Given the description of an element on the screen output the (x, y) to click on. 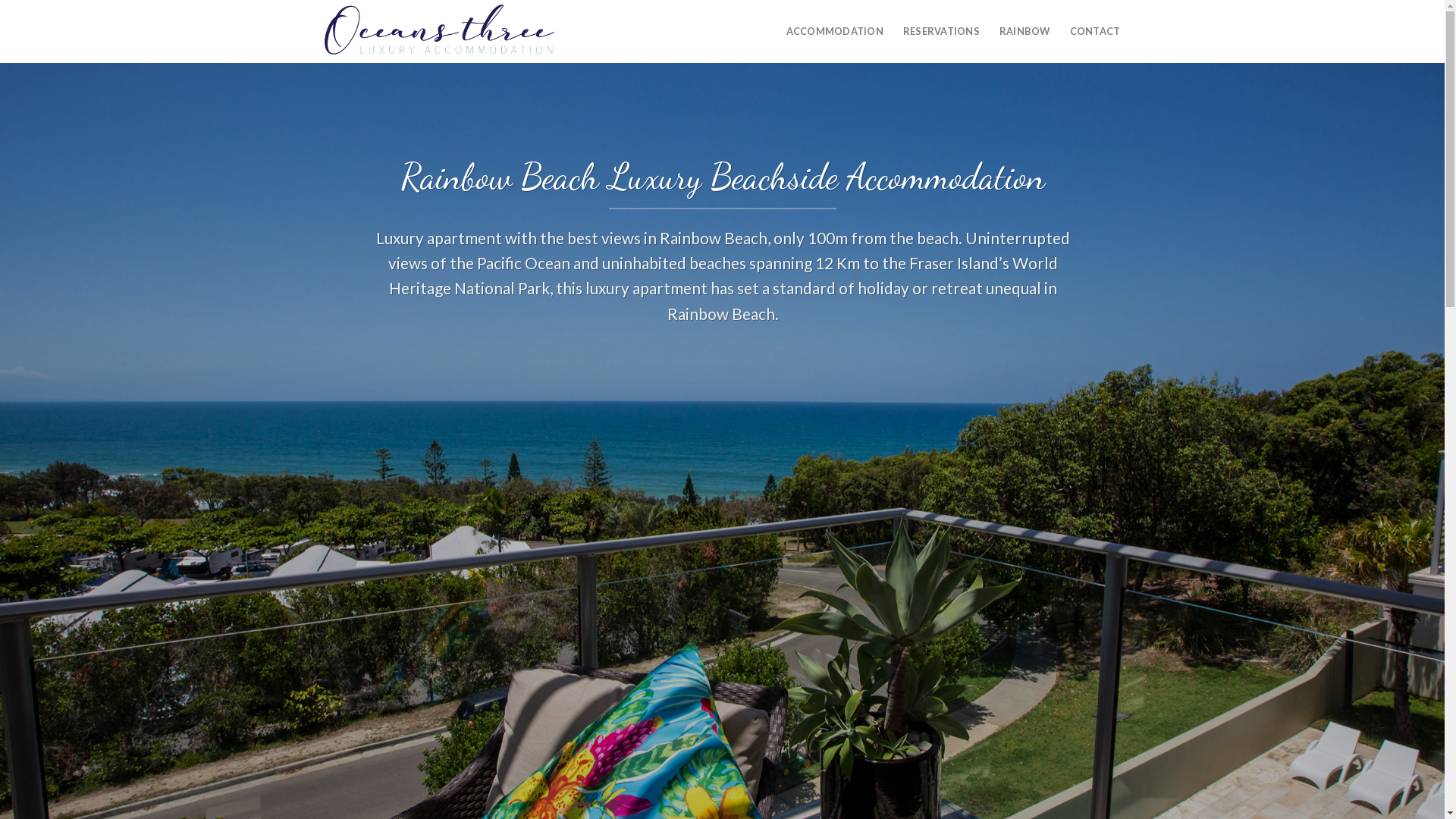
CONTACT Element type: text (1095, 30)
RAINBOW Element type: text (1024, 30)
Oceans Three - Rainbow Beach Luxury Beachside Accommodation Element type: hover (441, 31)
RESERVATIONS Element type: text (941, 30)
ACCOMMODATION Element type: text (833, 30)
